Given the description of an element on the screen output the (x, y) to click on. 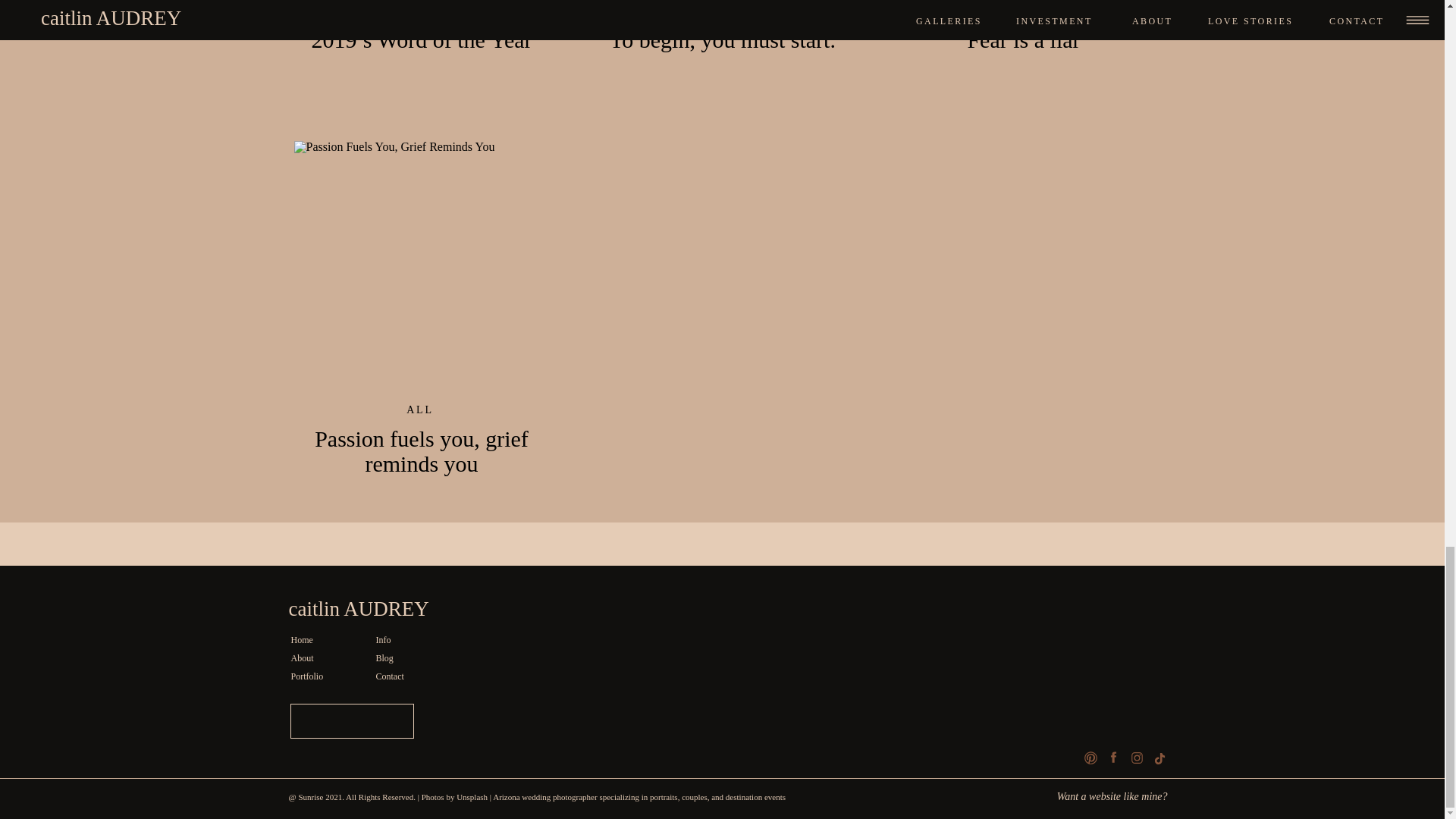
ALL (721, 10)
ALL (419, 10)
Passion fuels you, grief reminds you (421, 267)
To begin, you must start. (722, 39)
